Given the description of an element on the screen output the (x, y) to click on. 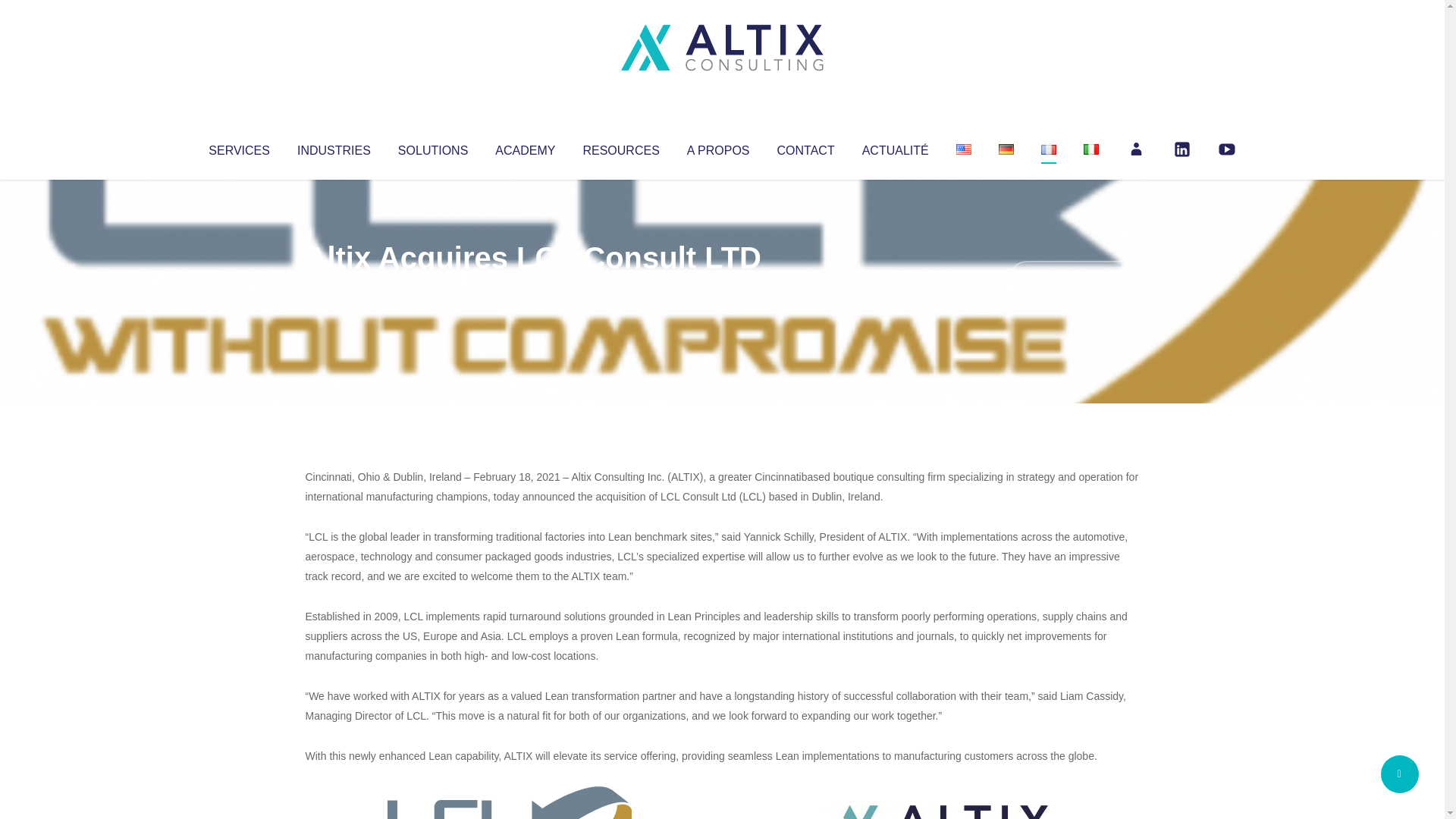
RESOURCES (620, 146)
INDUSTRIES (334, 146)
SOLUTIONS (432, 146)
No Comments (1073, 278)
Articles par Altix (333, 287)
SERVICES (238, 146)
A PROPOS (718, 146)
Uncategorized (530, 287)
ACADEMY (524, 146)
Altix (333, 287)
